Given the description of an element on the screen output the (x, y) to click on. 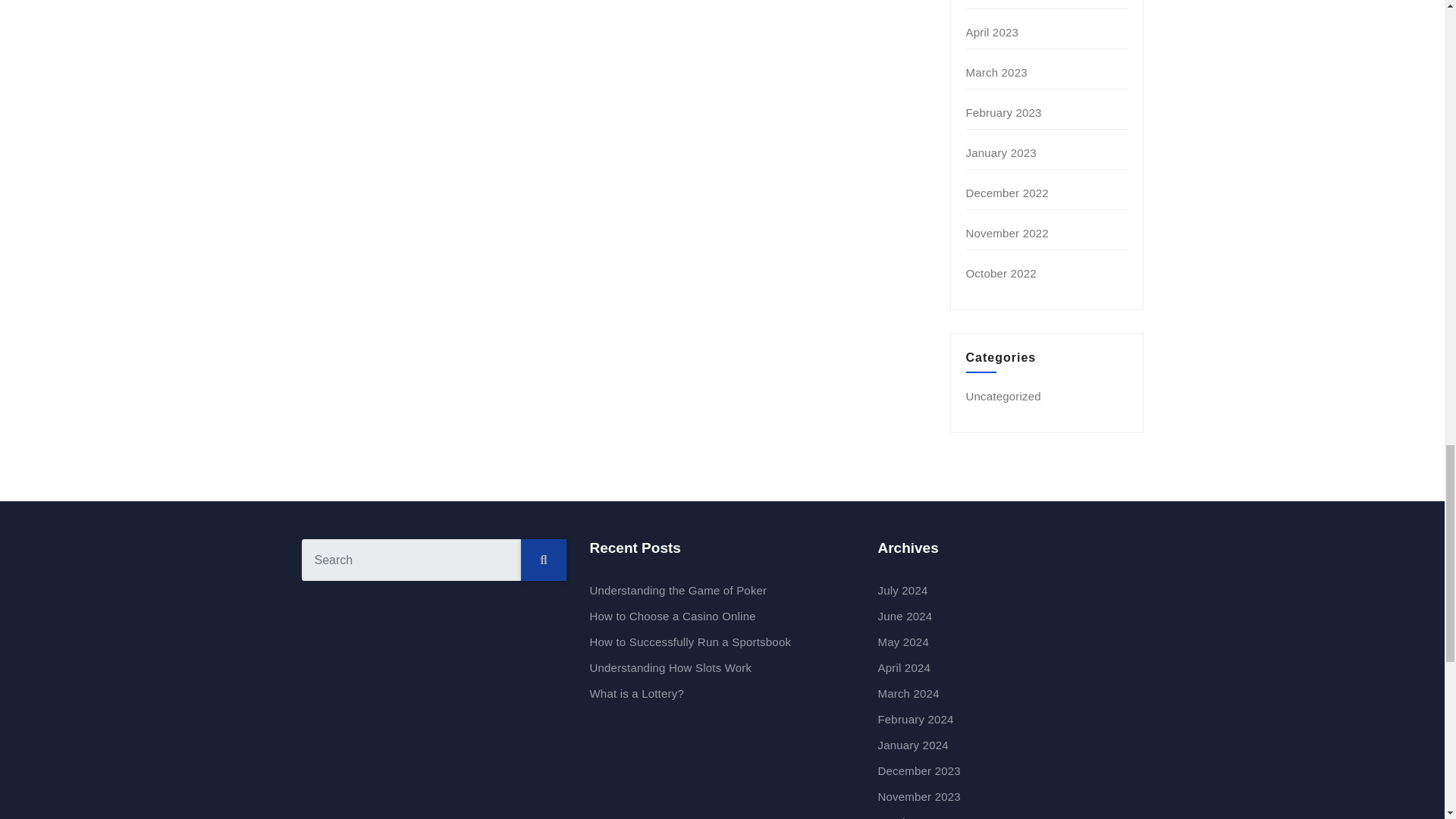
Understanding the Game of Poker (678, 590)
How to Successfully Run a Sportsbook (689, 641)
January 2023 (1001, 152)
April 2023 (992, 31)
March 2023 (996, 72)
November 2022 (1007, 232)
February 2023 (1004, 112)
Uncategorized (1003, 395)
December 2022 (1007, 192)
How to Choose a Casino Online (672, 615)
October 2022 (1001, 273)
